Given the description of an element on the screen output the (x, y) to click on. 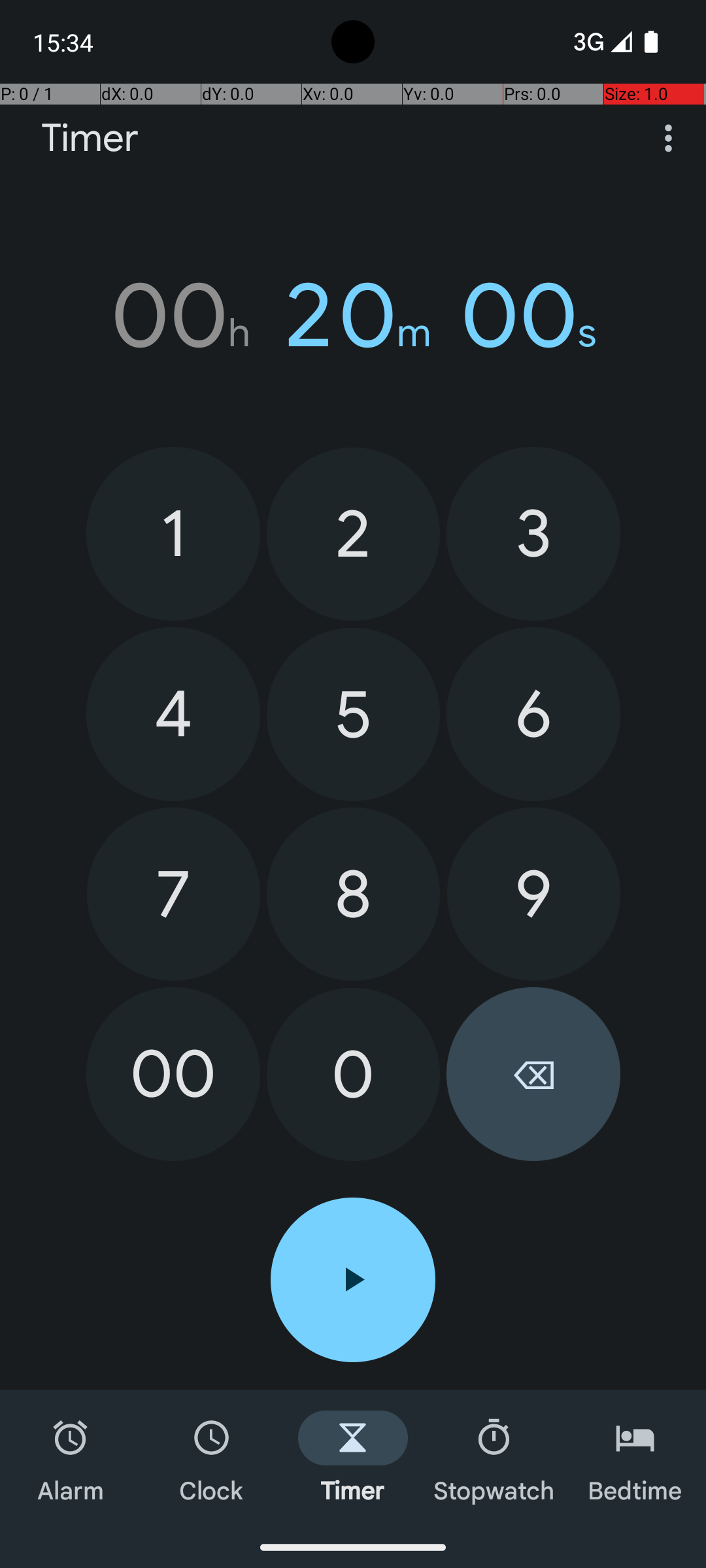
00h 20m 00s Element type: android.widget.TextView (353, 315)
